Given the description of an element on the screen output the (x, y) to click on. 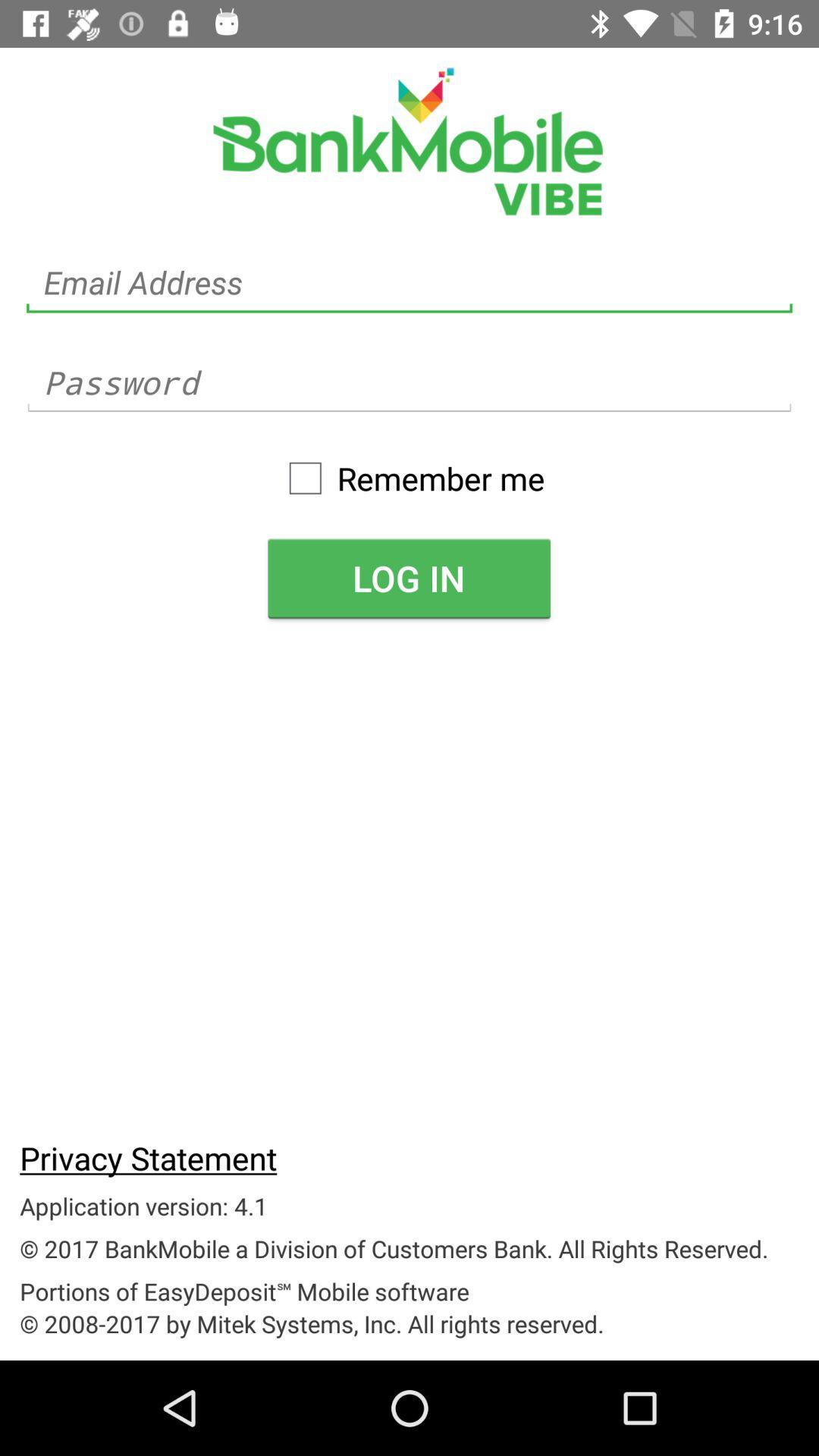
jump to the log in (408, 578)
